Given the description of an element on the screen output the (x, y) to click on. 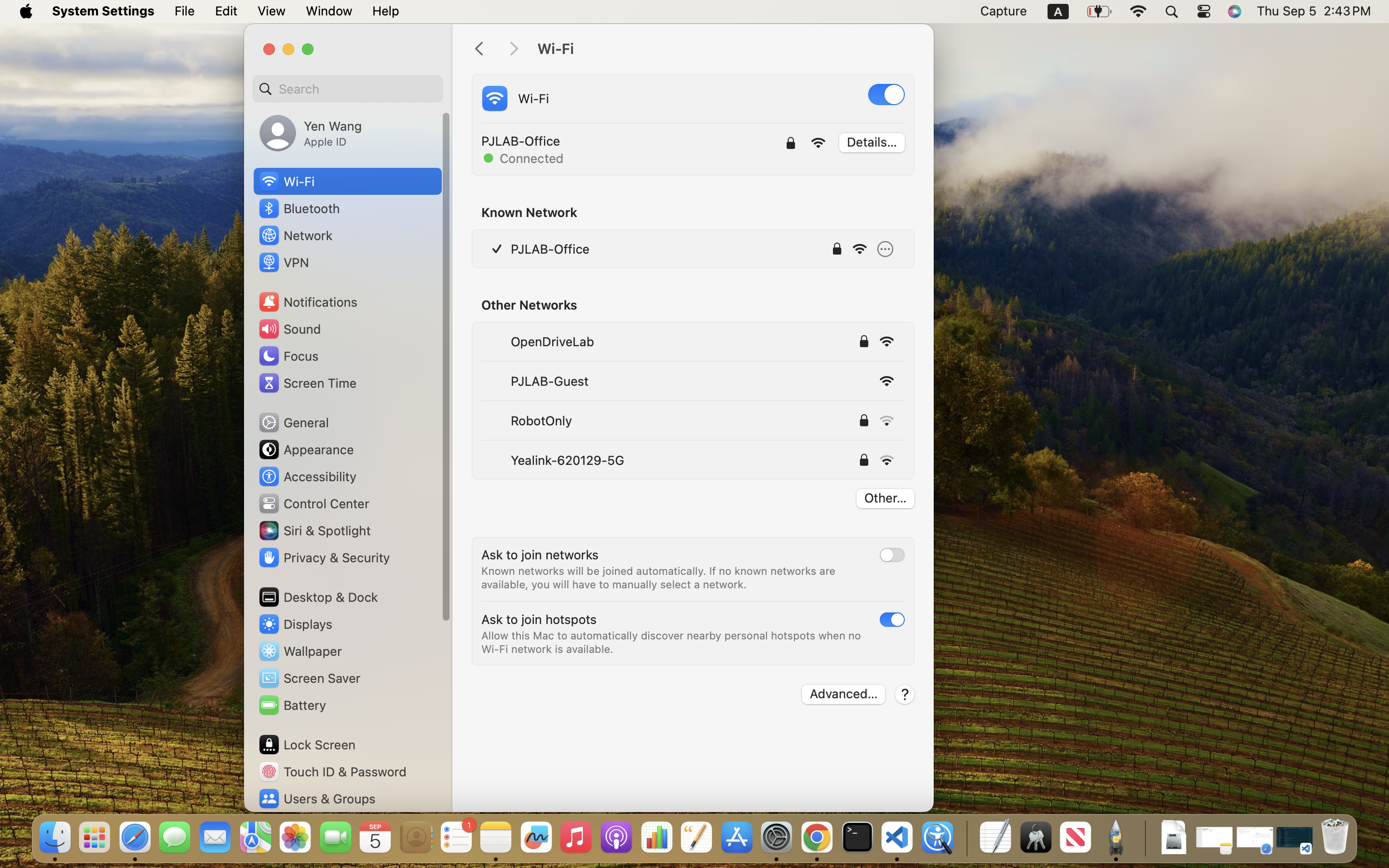
1 Element type: AXCheckBox (886, 94)
Known networks will be joined automatically. If no known networks are available, you will have to manually select a network. Element type: AXStaticText (659, 577)
